Given the description of an element on the screen output the (x, y) to click on. 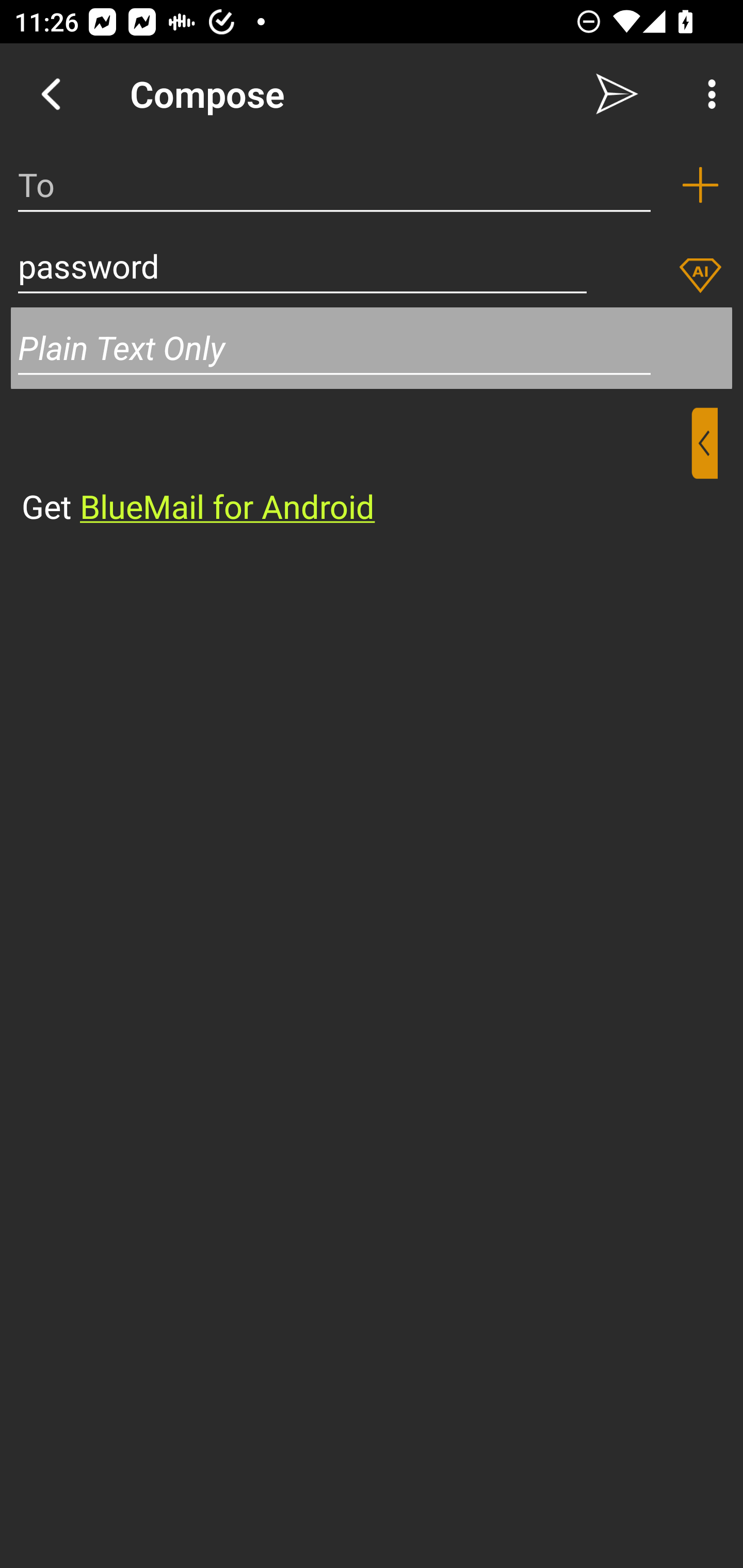
Navigate up (50, 93)
Send (616, 93)
More Options (706, 93)
To (334, 184)
Add recipient (To) (699, 184)
password (302, 266)
Plain Text Only (371, 347)


⁣Get BlueMail for Android ​ (355, 468)
